Given the description of an element on the screen output the (x, y) to click on. 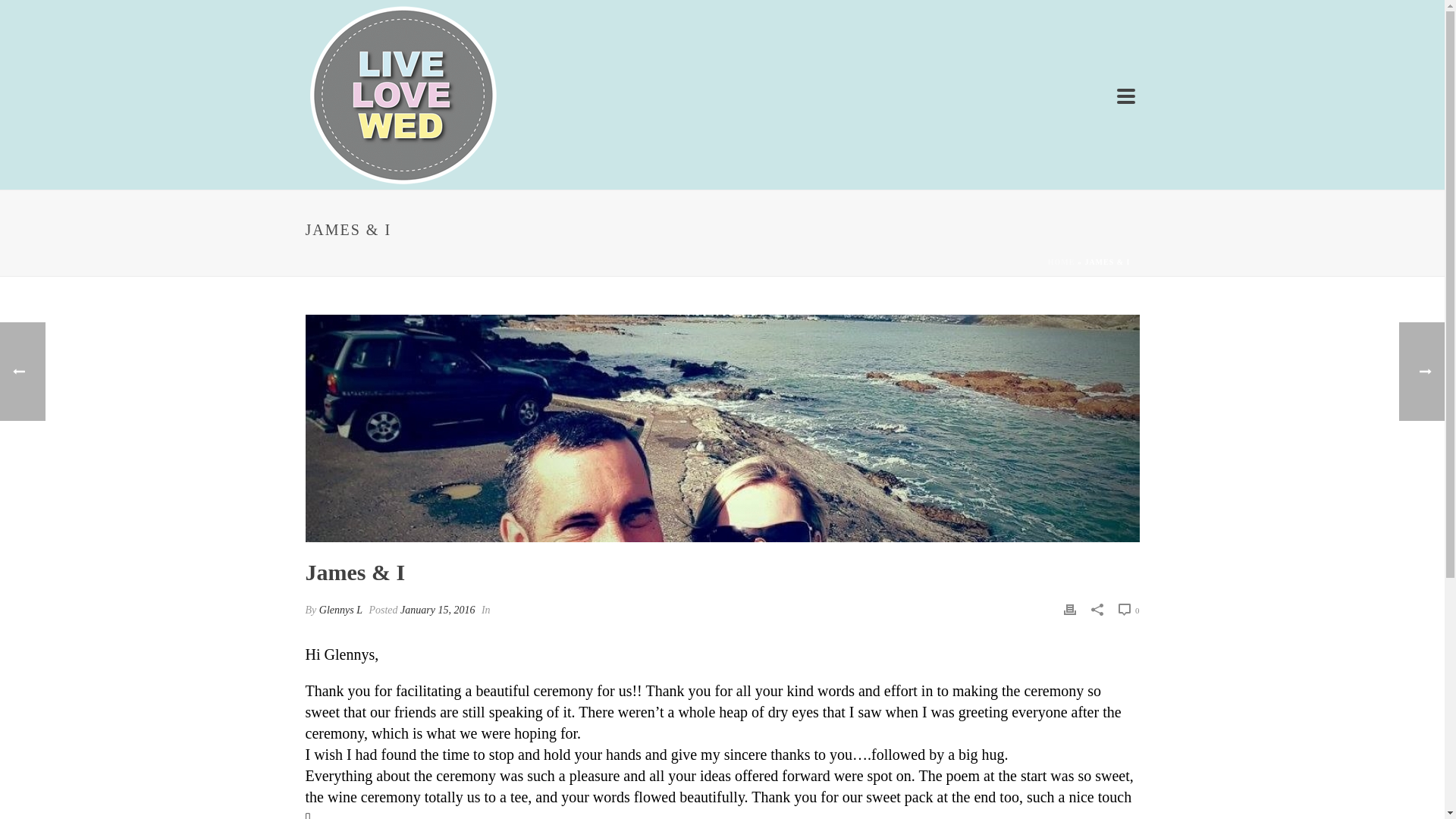
Glennys L (340, 609)
January 15, 2016 (437, 609)
Posts by Glennys L (340, 609)
HOME (1061, 261)
